Given the description of an element on the screen output the (x, y) to click on. 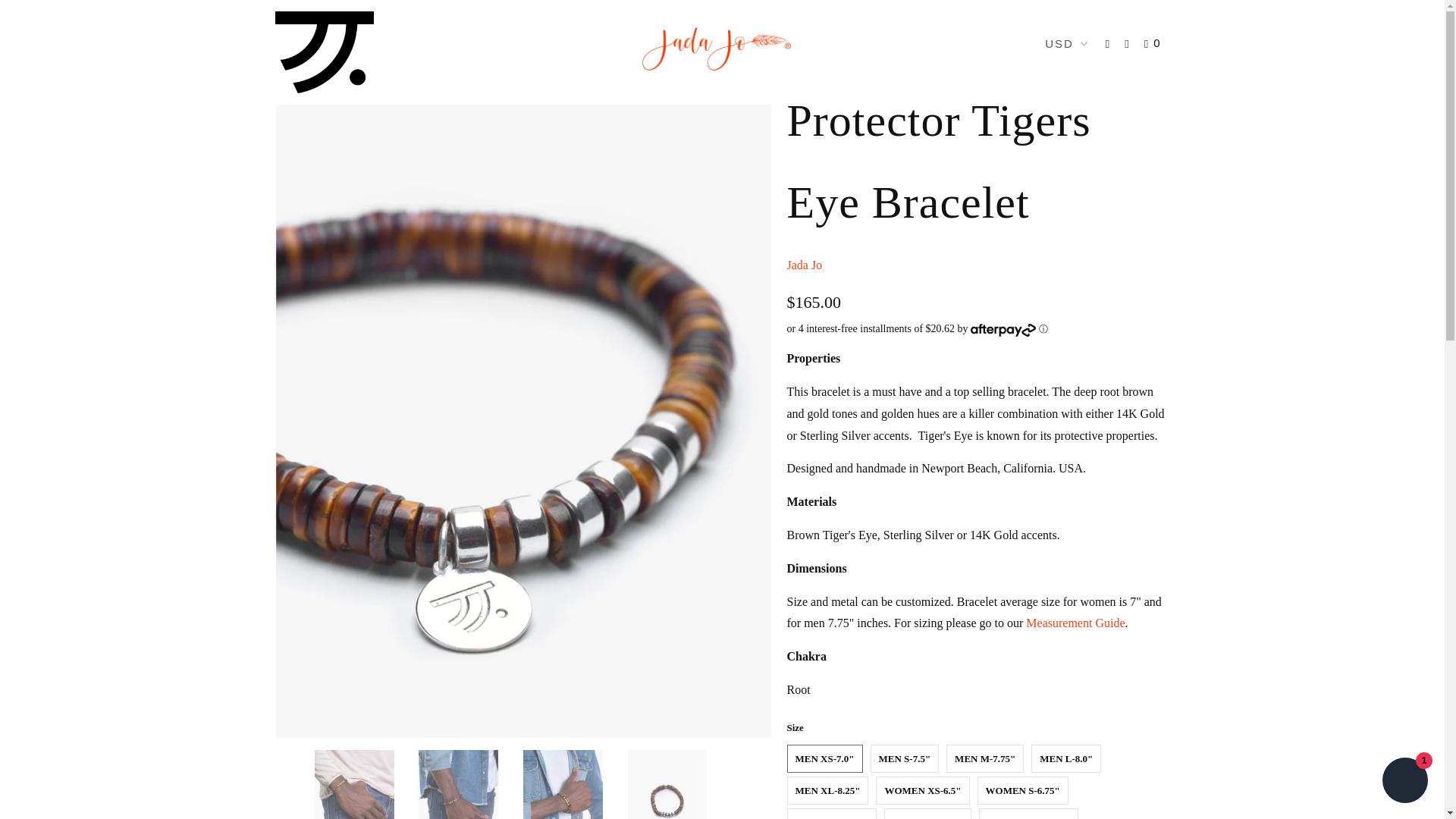
Measurement Guide (1075, 622)
Jada Jo (323, 52)
Jada Jo (288, 53)
Products (334, 53)
Measurement Guide (1075, 622)
Jada Jo (804, 264)
0 (1154, 43)
Home (288, 53)
Jada Jo (804, 264)
Products (334, 53)
